Given the description of an element on the screen output the (x, y) to click on. 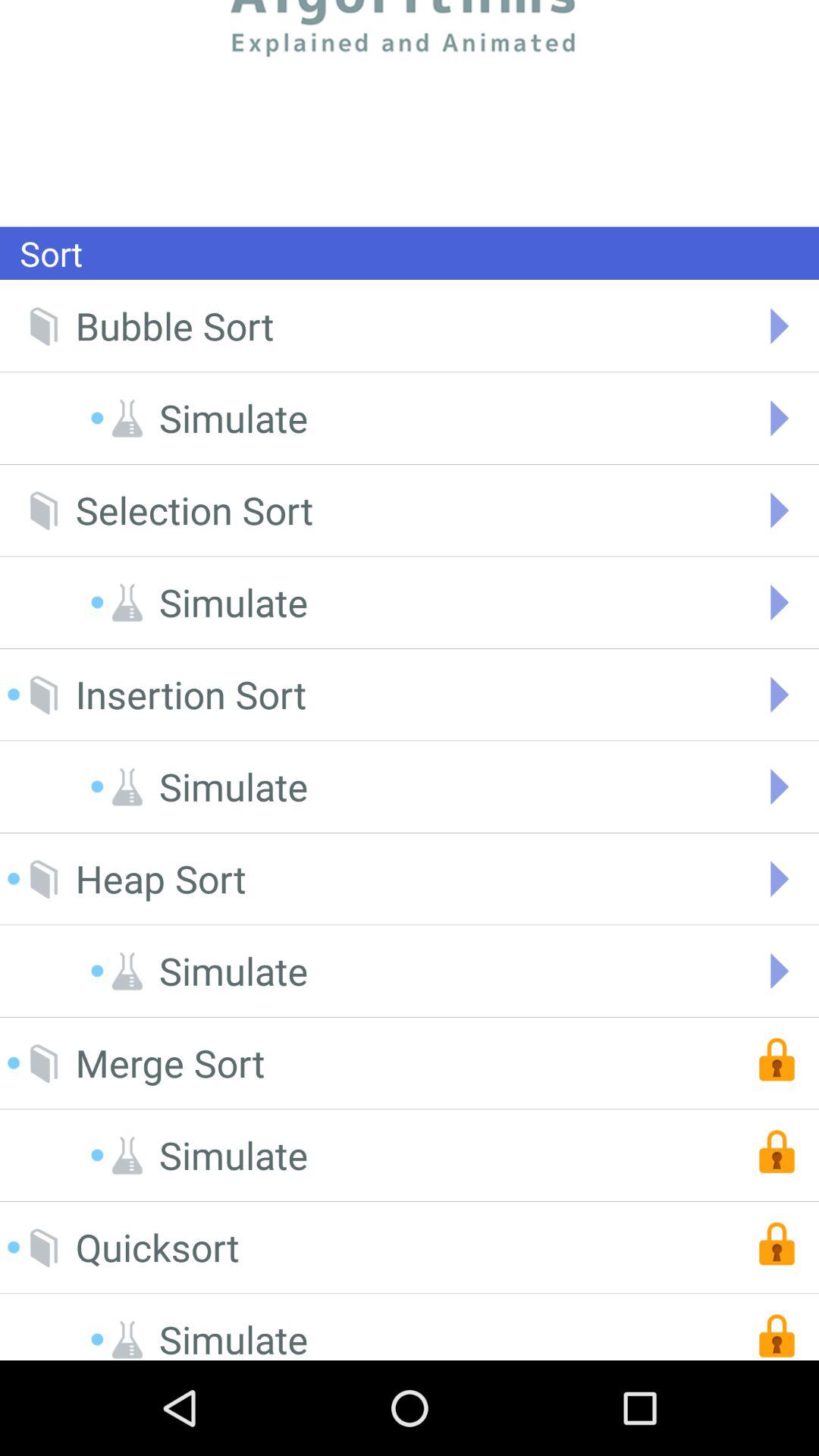
choose icon below the simulate icon (194, 510)
